Given the description of an element on the screen output the (x, y) to click on. 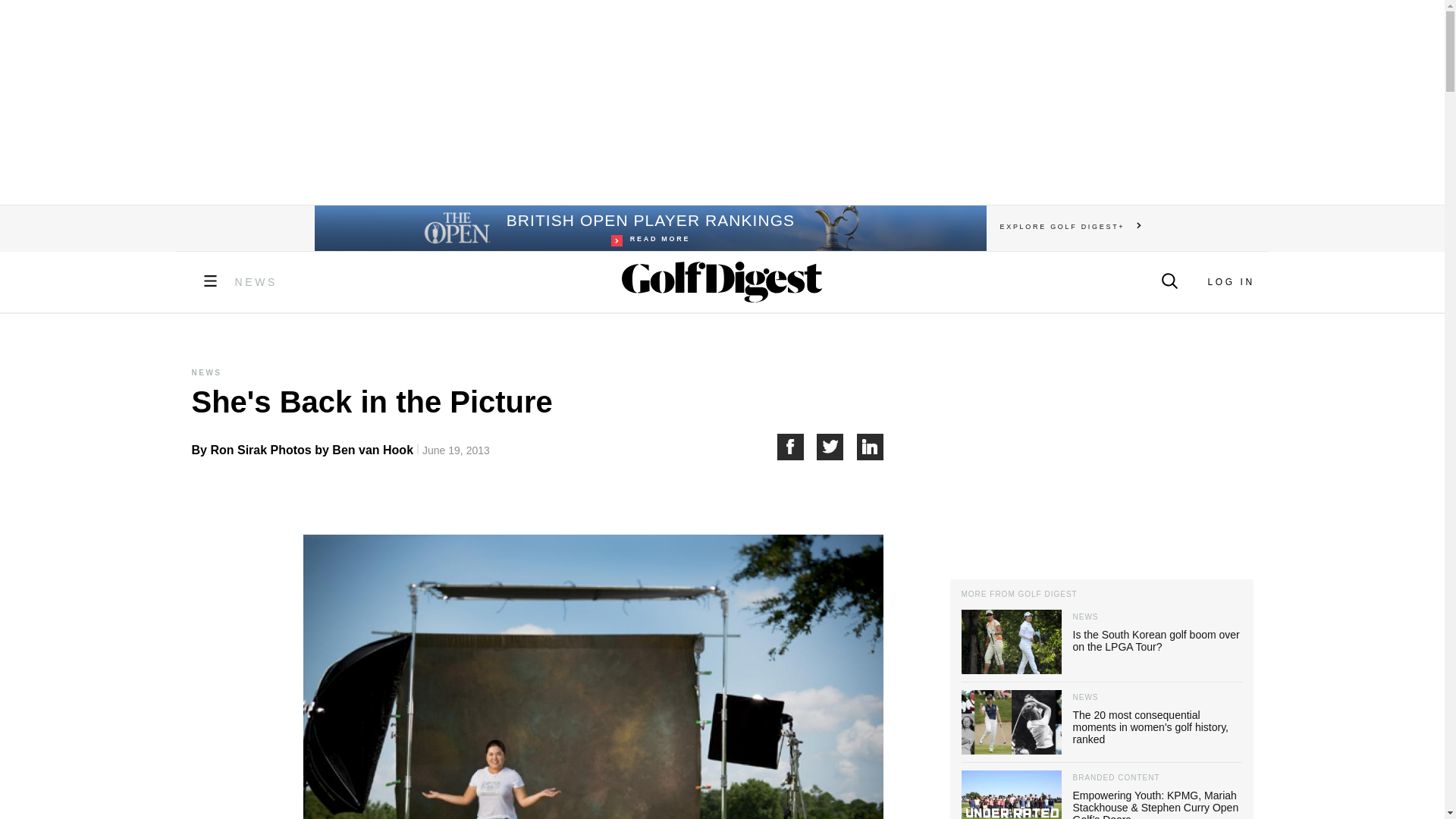
3rd party ad content (1100, 453)
NEWS (256, 282)
Share on LinkedIn (870, 447)
LOG IN (649, 227)
3rd party ad content (1230, 281)
Share on Twitter (721, 101)
Share on Facebook (836, 447)
